Given the description of an element on the screen output the (x, y) to click on. 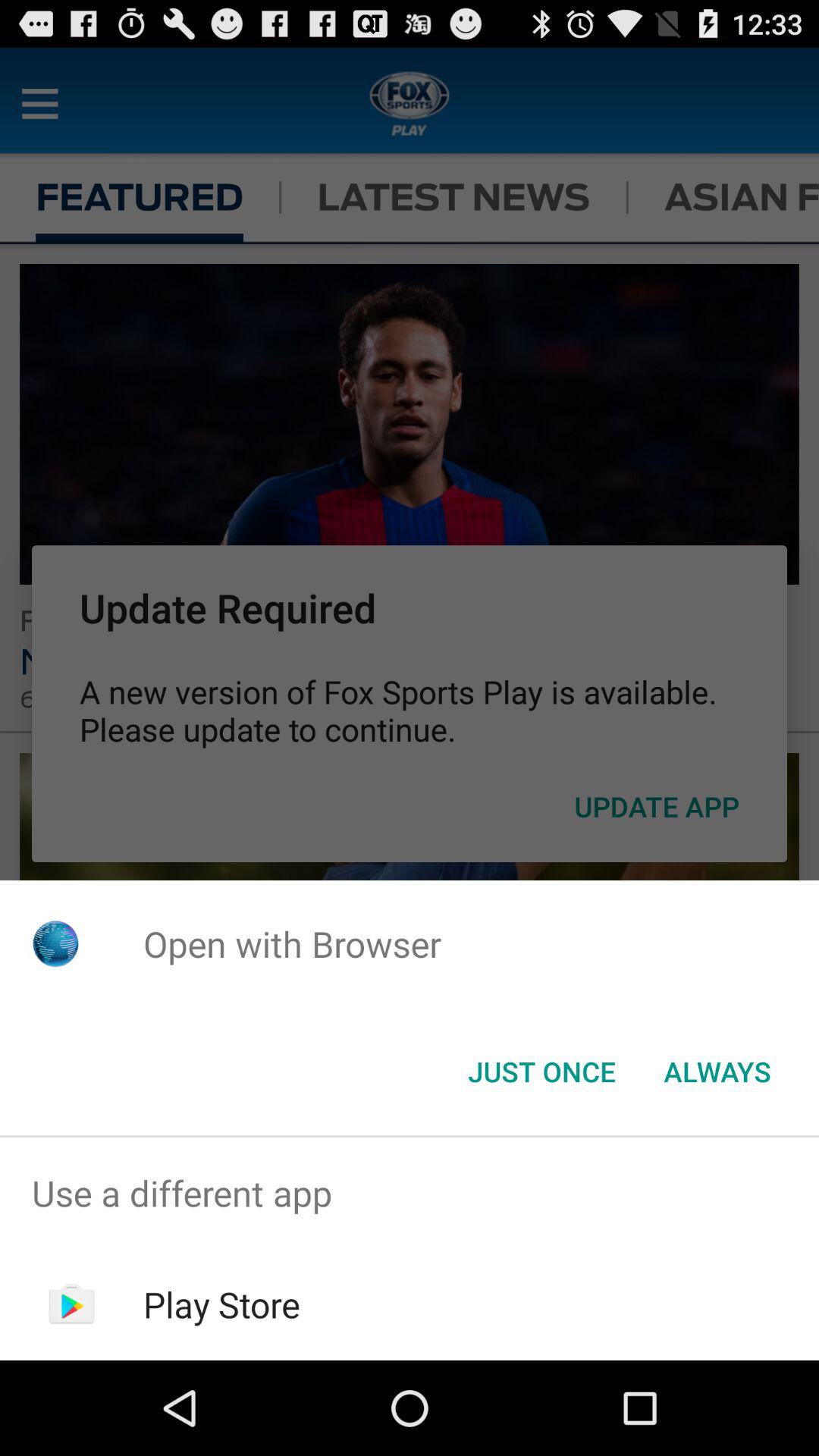
swipe until just once button (541, 1071)
